Given the description of an element on the screen output the (x, y) to click on. 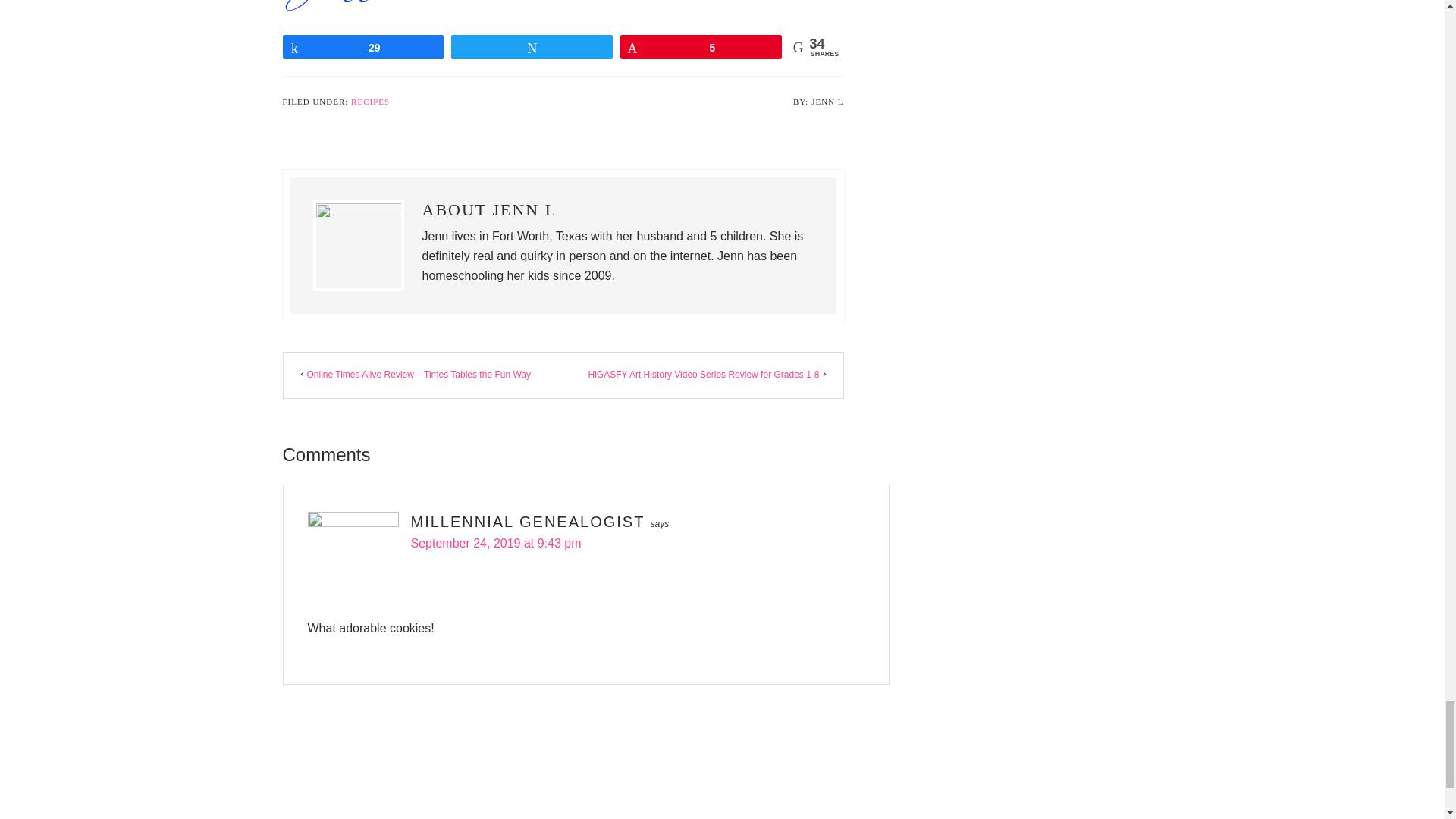
29 (363, 47)
RECIPES (370, 101)
5 (700, 47)
MILLENNIAL GENEALOGIST (527, 521)
HiGASFY Art History Video Series Review for Grades 1-8 (703, 374)
September 24, 2019 at 9:43 pm (495, 543)
